Given the description of an element on the screen output the (x, y) to click on. 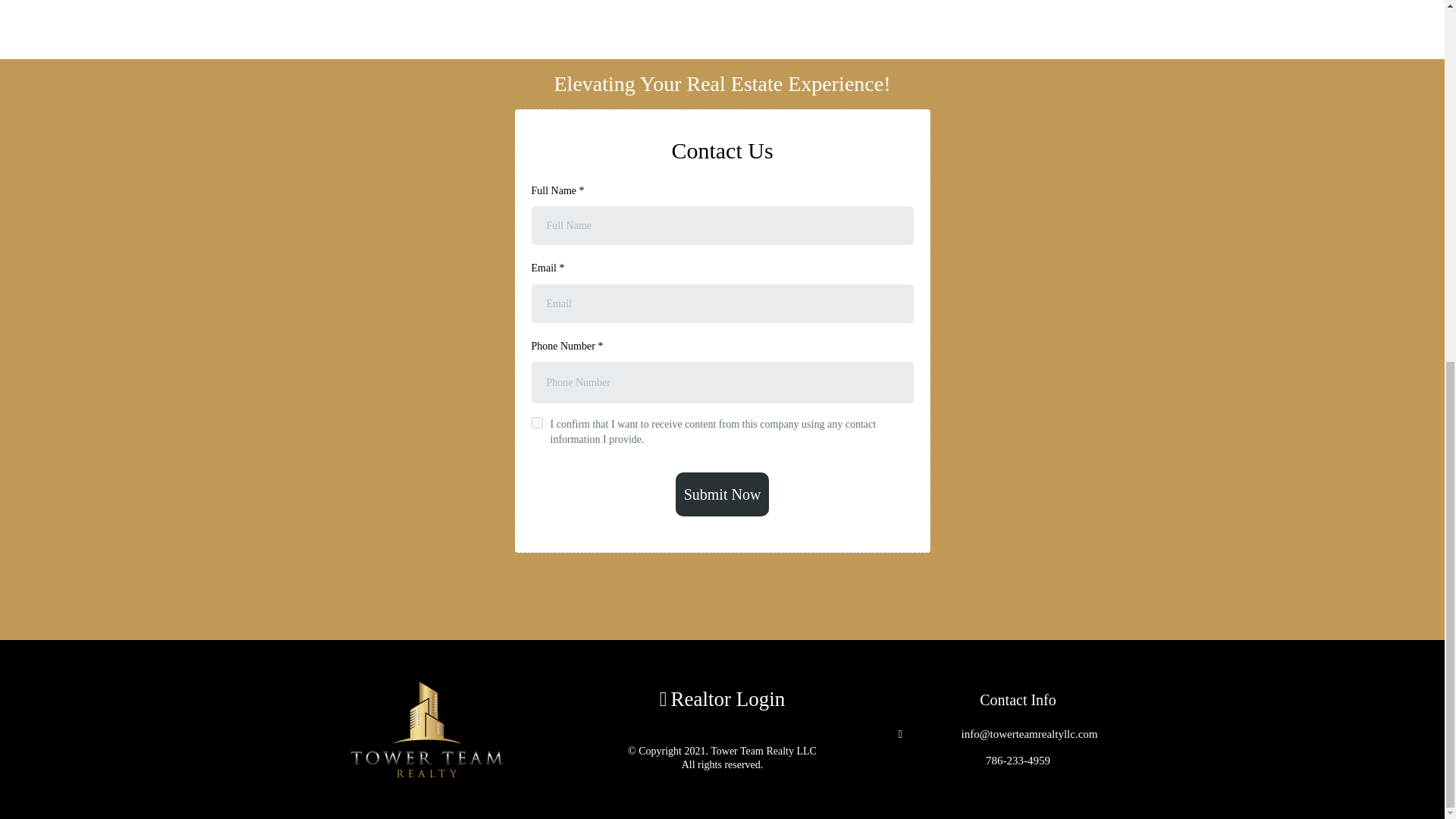
Realtor Login (728, 698)
Submit Now (722, 494)
786-233-4959 (1017, 760)
